Given the description of an element on the screen output the (x, y) to click on. 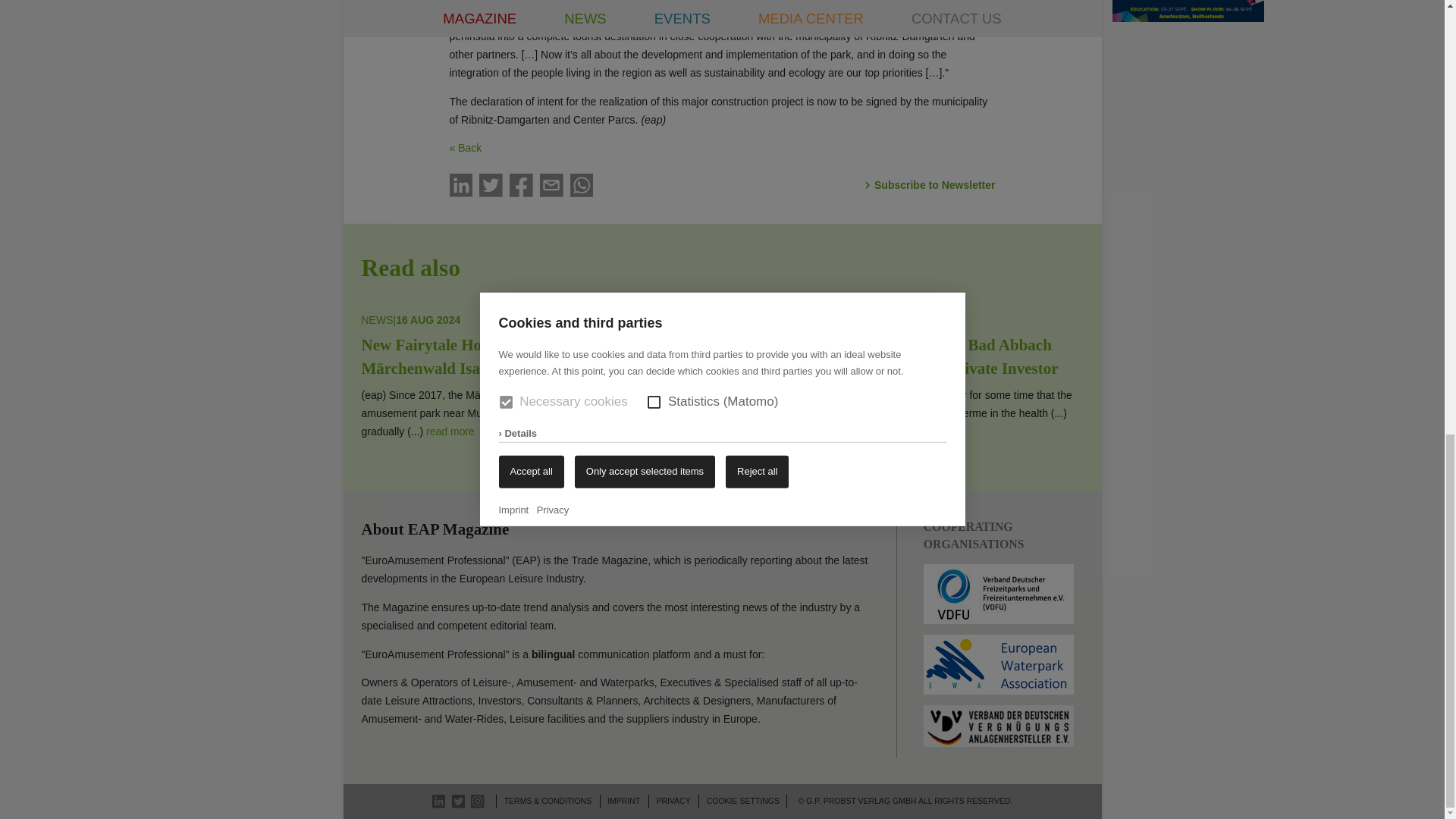
VDFU (998, 594)
LinkedIn (439, 801)
European Waterpark Association (998, 664)
Instagram (477, 801)
Twitter (458, 801)
